Given the description of an element on the screen output the (x, y) to click on. 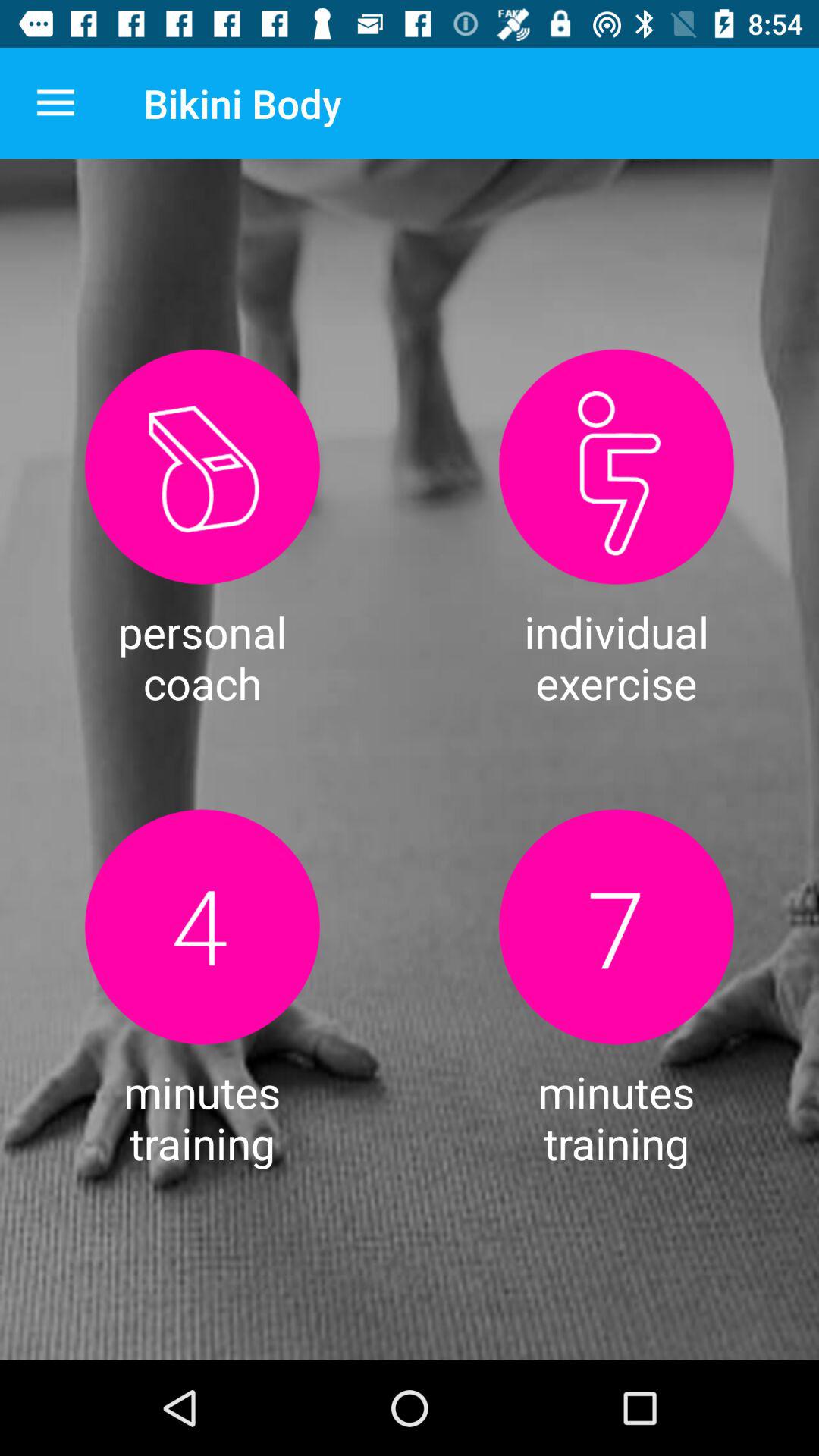
training timer (202, 926)
